Given the description of an element on the screen output the (x, y) to click on. 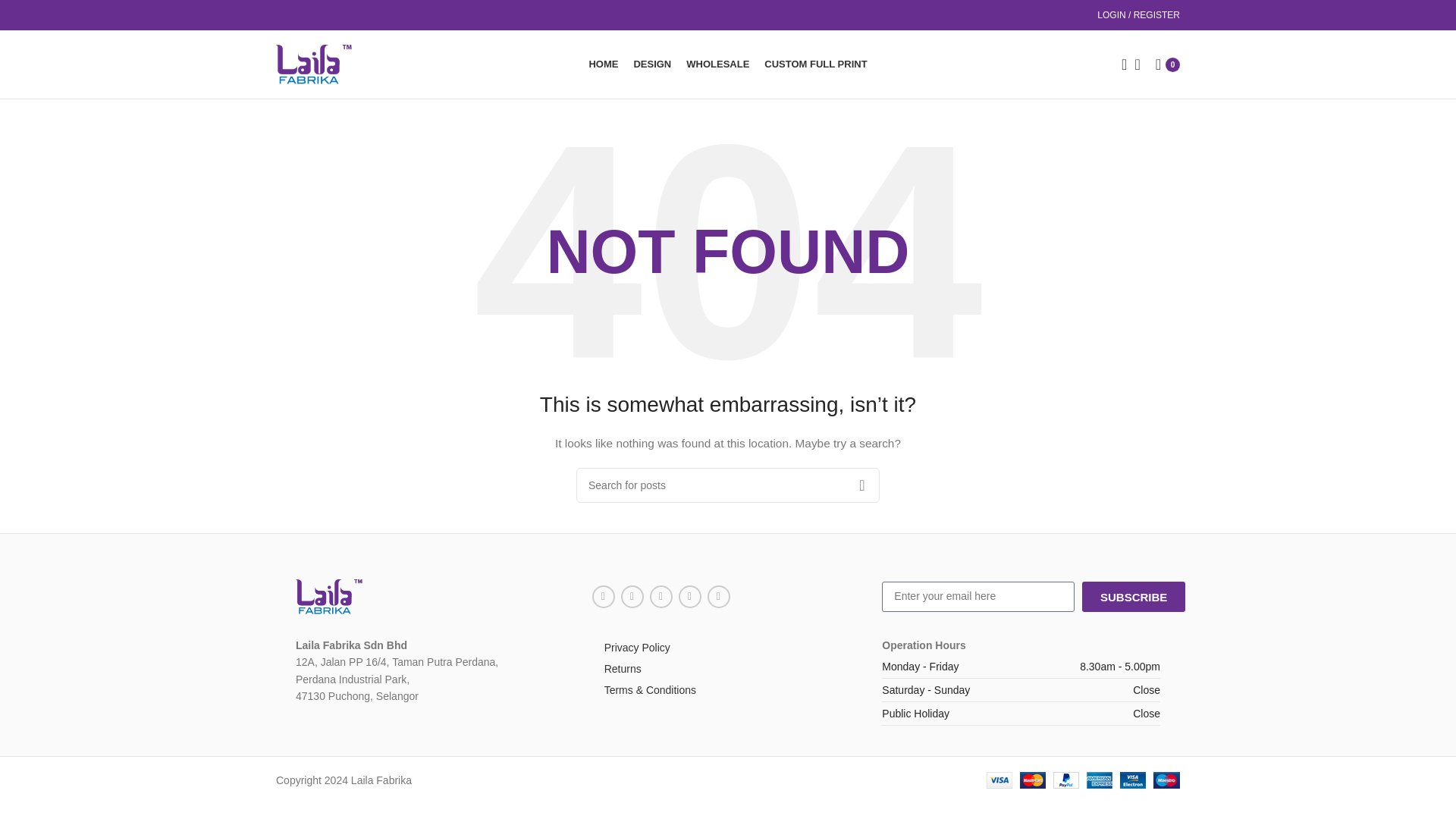
Search for posts (727, 484)
DESIGN (652, 64)
My account (1138, 15)
0 (1168, 64)
Privacy Policy (728, 647)
CUSTOM FULL PRINT (815, 64)
HOME (602, 64)
WHOLESALE (717, 64)
SEARCH (861, 484)
Shopping cart (1168, 64)
Returns (728, 668)
SUBSCRIBE (1133, 596)
